Given the description of an element on the screen output the (x, y) to click on. 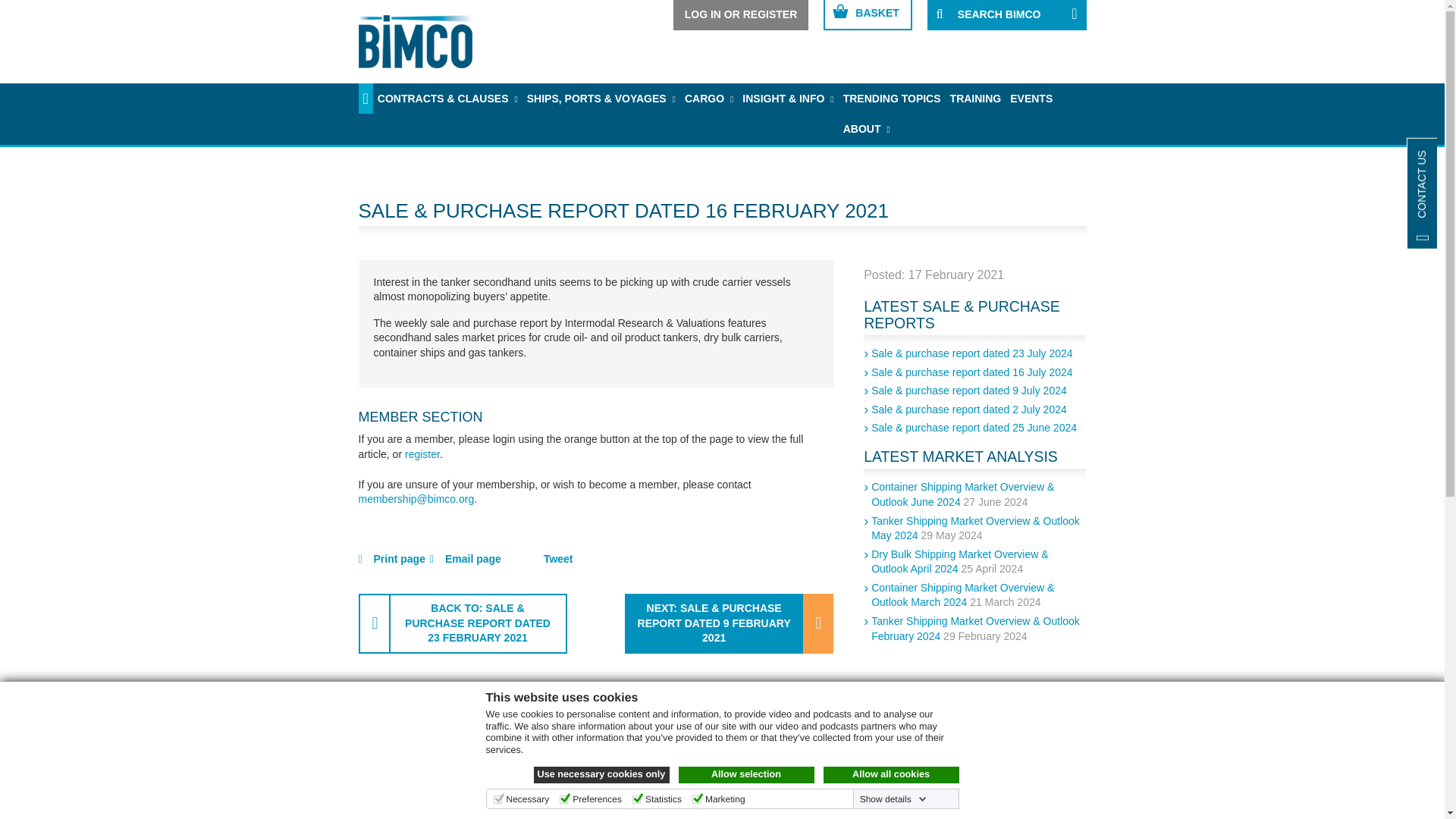
Allow all cookies (891, 774)
Allow selection (745, 774)
Use necessary cookies only (601, 774)
Show details (893, 799)
